Given the description of an element on the screen output the (x, y) to click on. 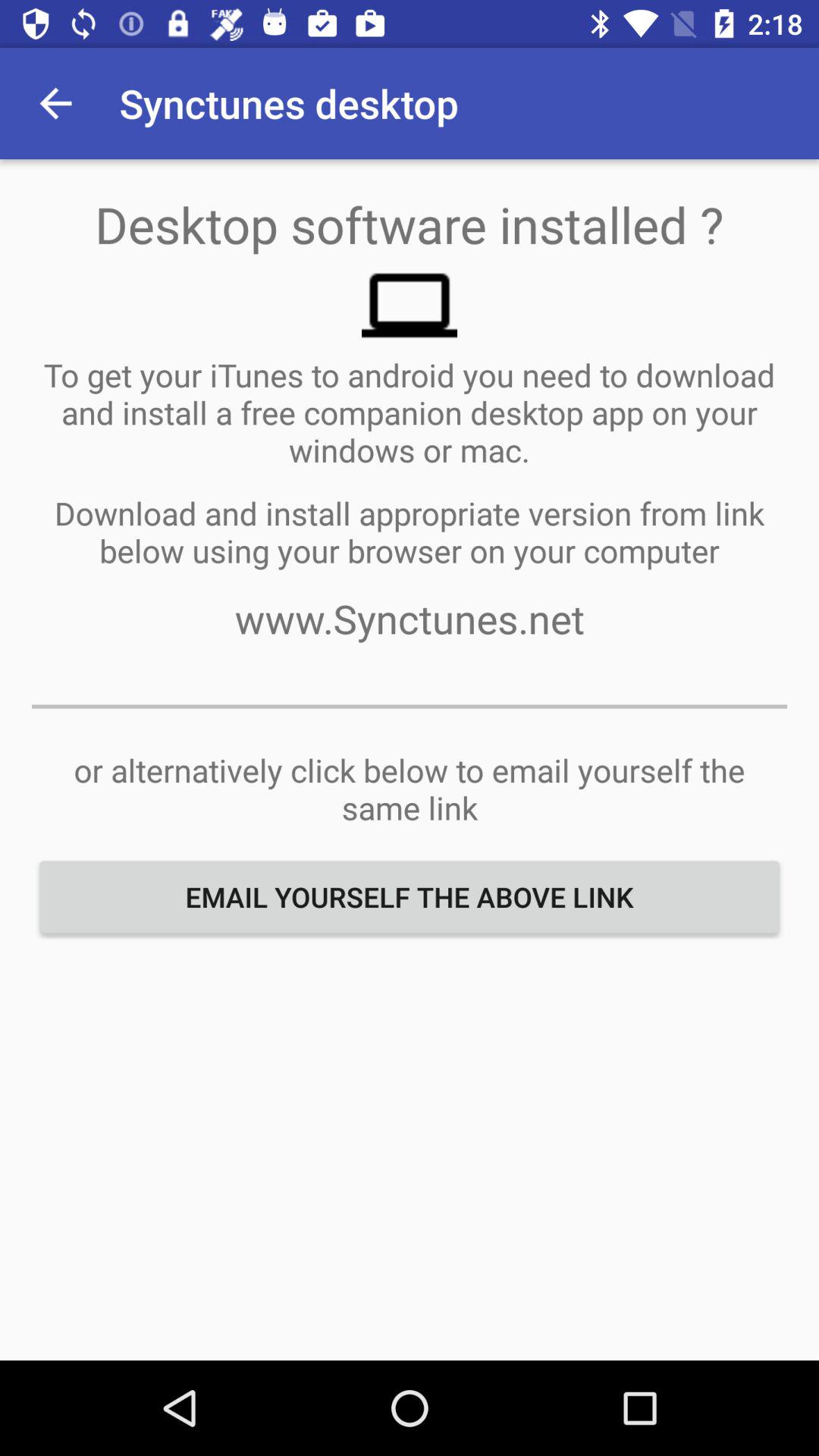
turn off icon above the desktop software installed ? icon (55, 103)
